Given the description of an element on the screen output the (x, y) to click on. 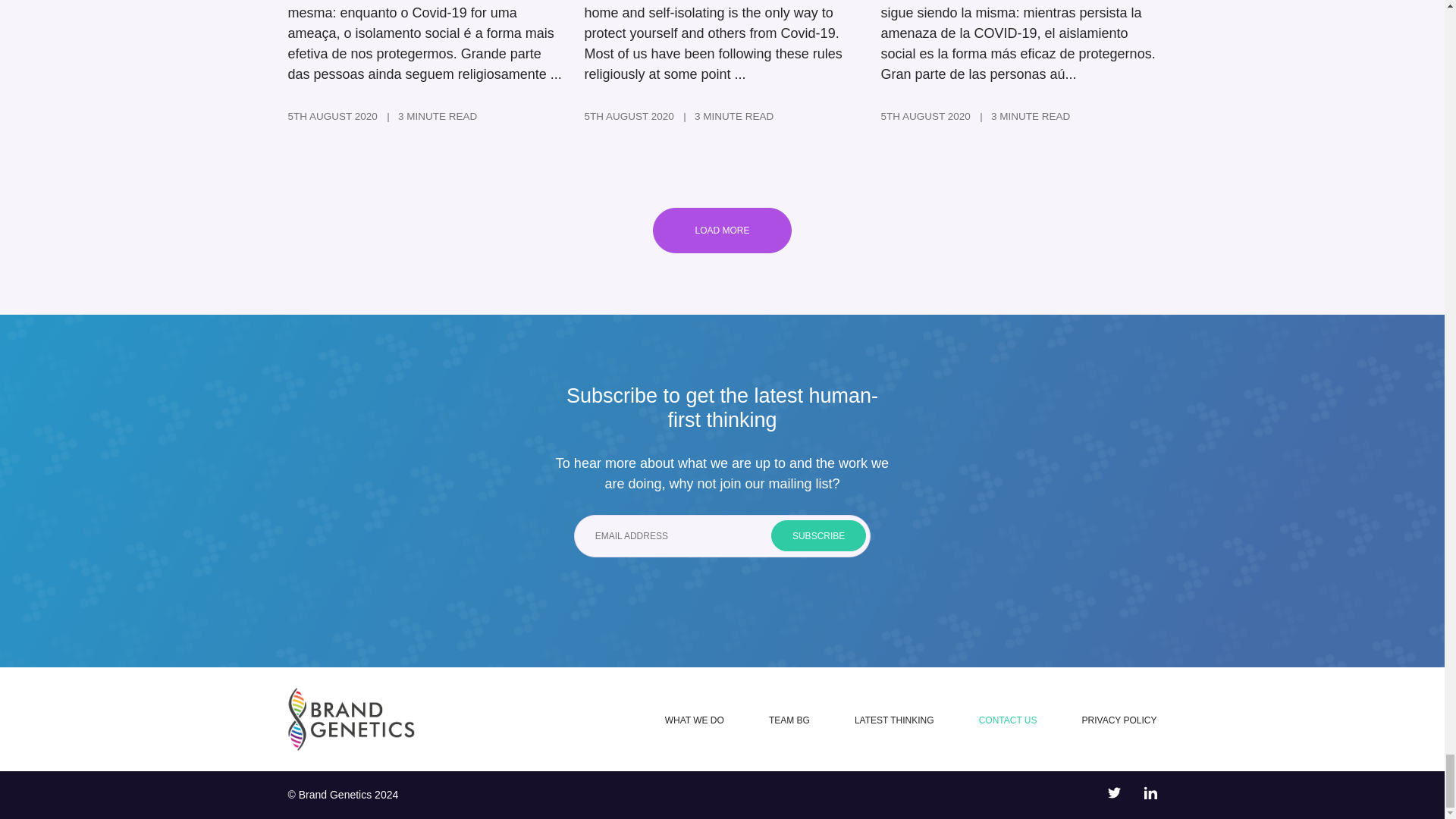
Subscribe (818, 535)
